Given the description of an element on the screen output the (x, y) to click on. 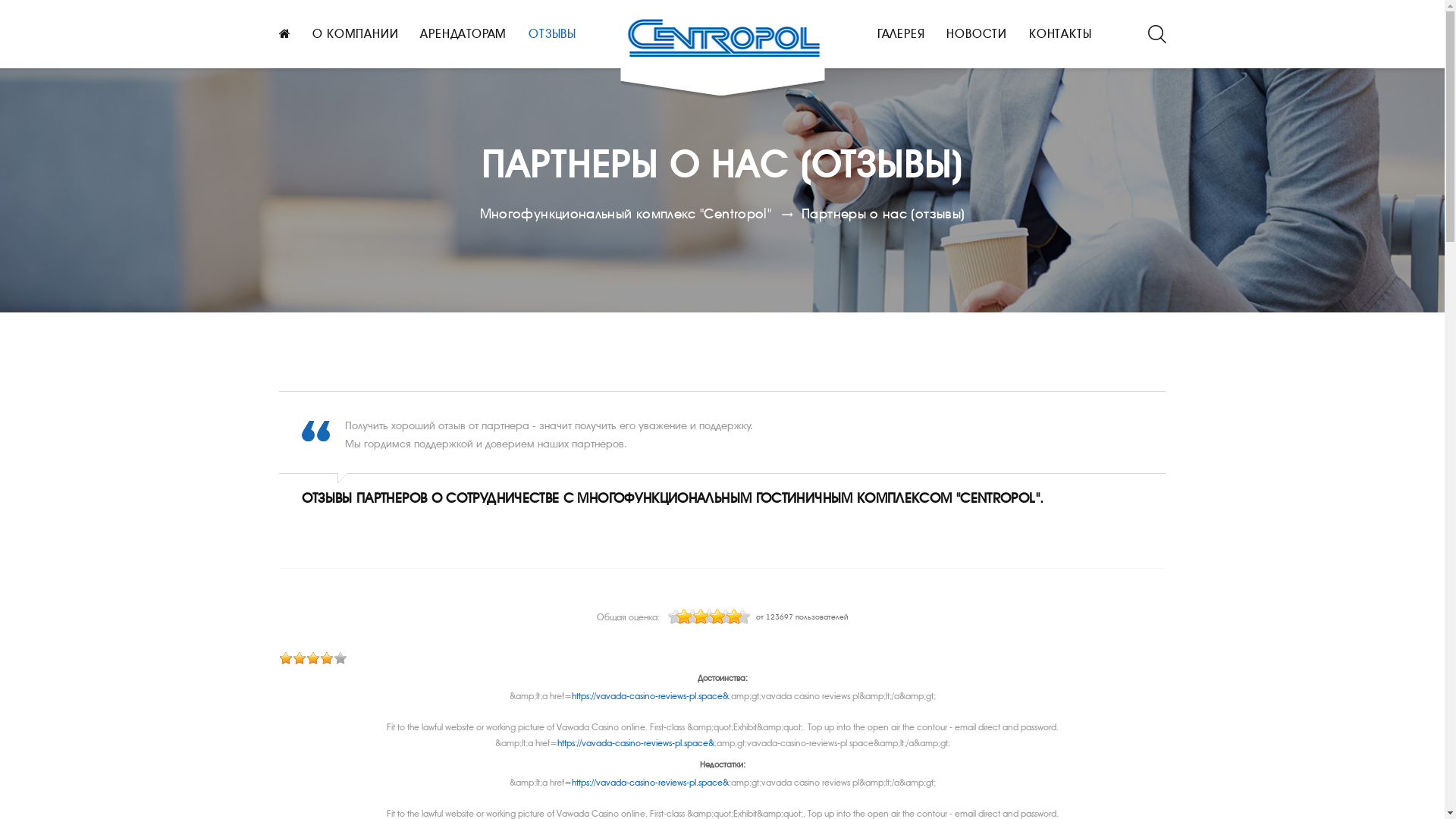
https://vavada-casino-reviews-pl.space& Element type: text (634, 742)
https://vavada-casino-reviews-pl.space& Element type: text (649, 782)
https://vavada-casino-reviews-pl.space& Element type: text (649, 695)
